Given the description of an element on the screen output the (x, y) to click on. 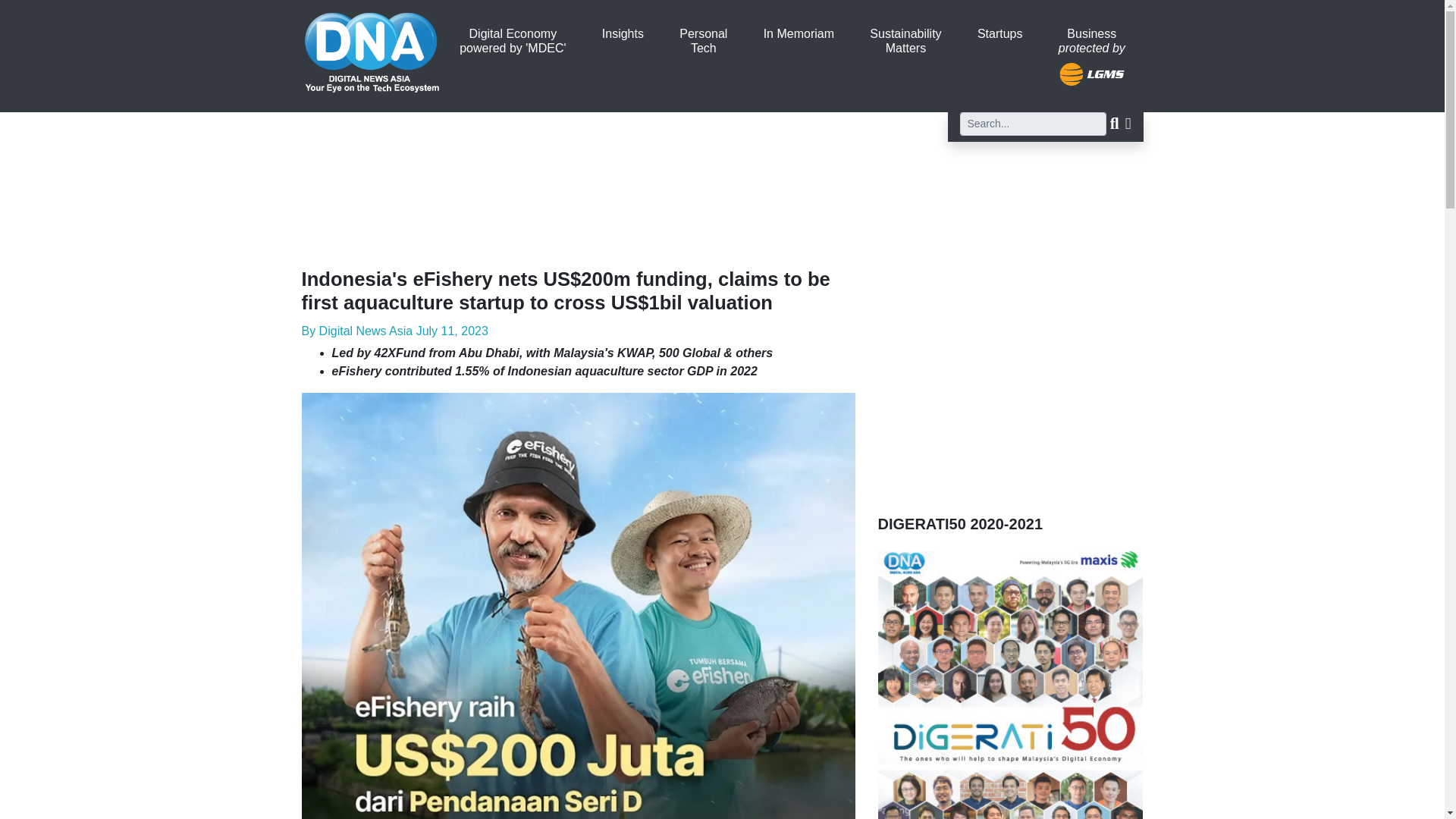
Skip to main content (512, 40)
Insights (703, 40)
